Given the description of an element on the screen output the (x, y) to click on. 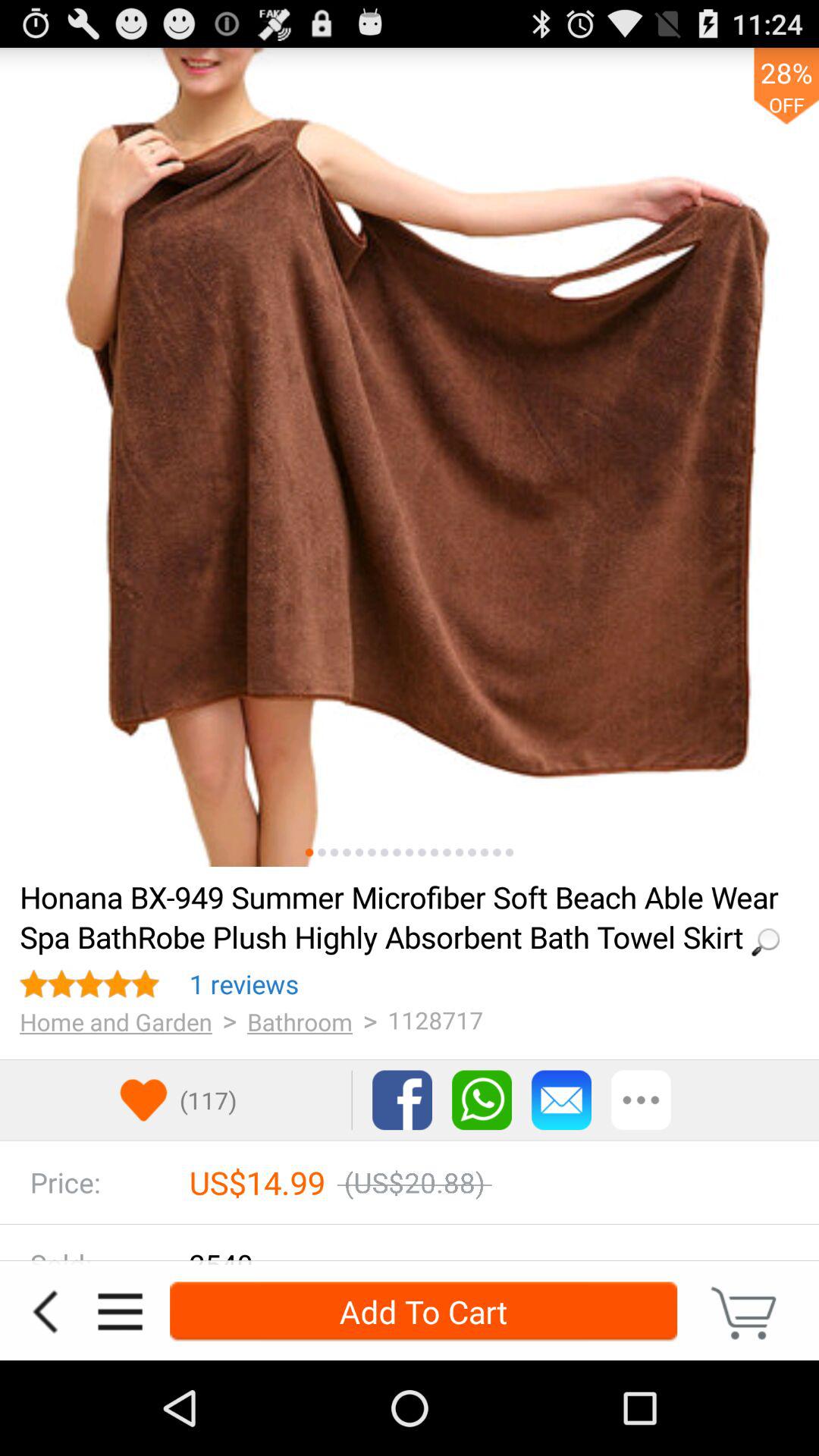
open the item above the loading... item (484, 852)
